Given the description of an element on the screen output the (x, y) to click on. 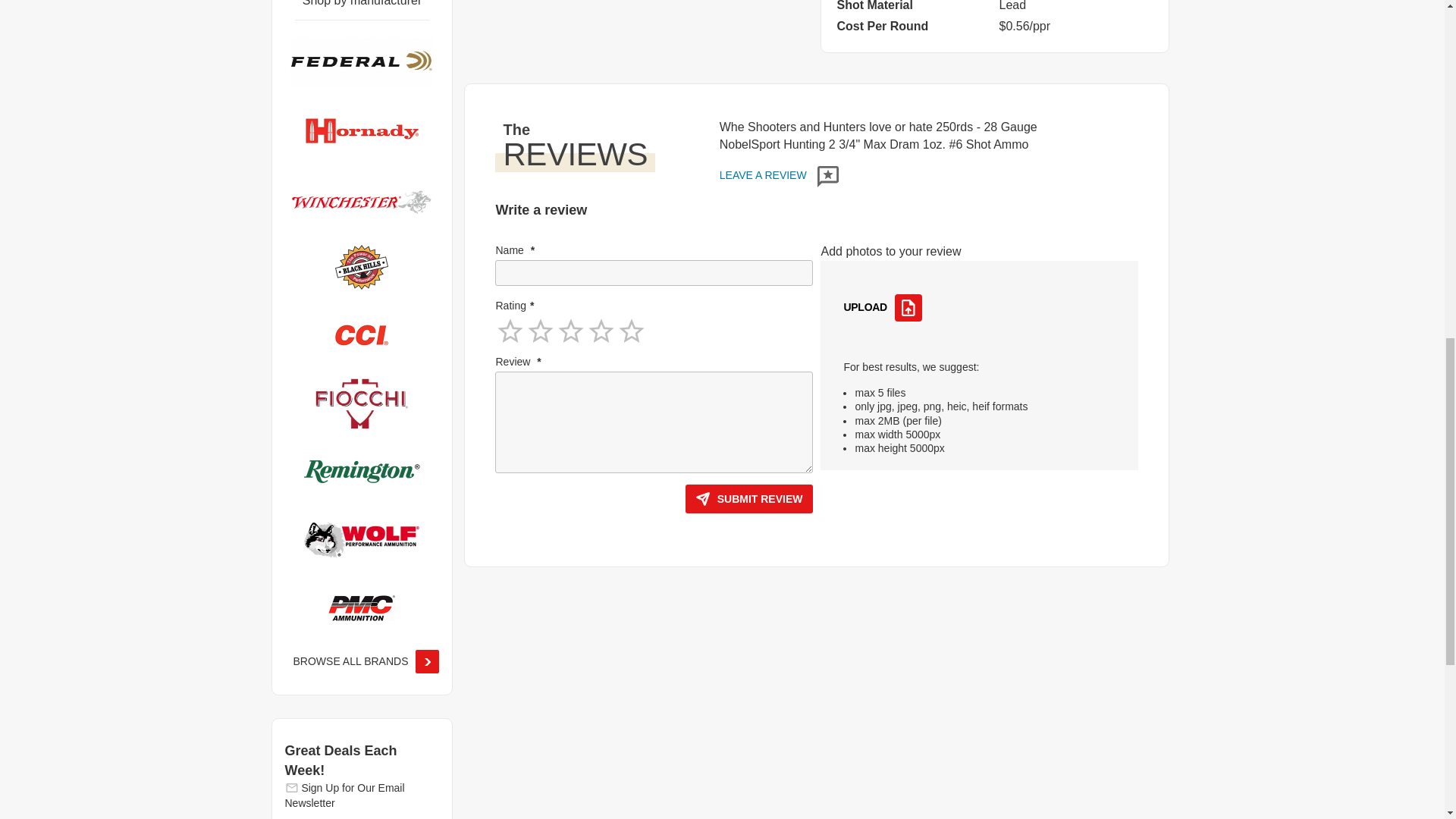
LEAVE A REVIEW (778, 174)
SUBMIT REVIEW (749, 498)
1 (510, 335)
3 (571, 335)
5 (630, 335)
Submit Review (749, 498)
2 (540, 335)
4 (600, 335)
